Given the description of an element on the screen output the (x, y) to click on. 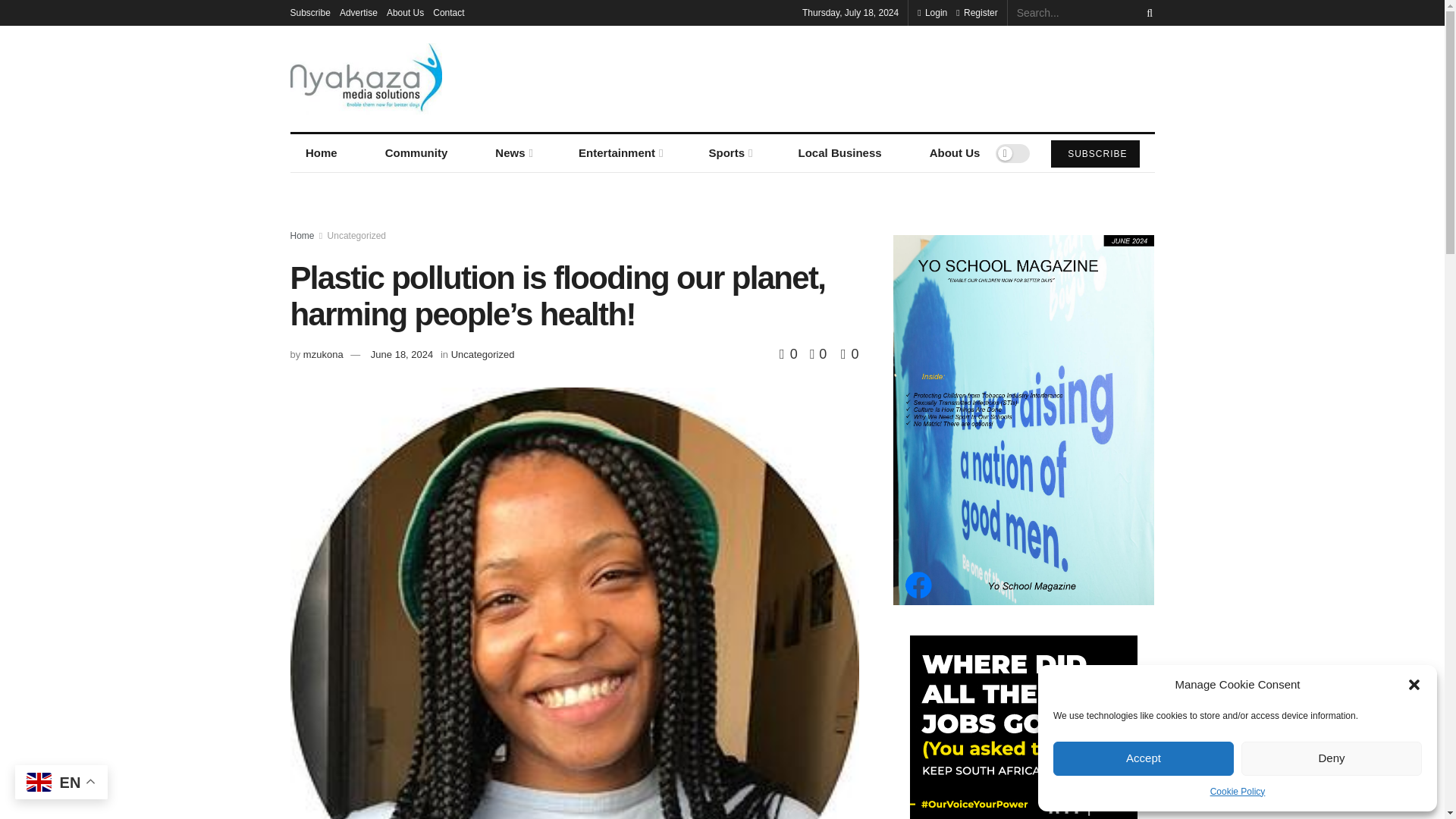
Deny (1331, 758)
Cookie Policy (1237, 791)
Community (416, 152)
Login (932, 12)
Home (320, 152)
About Us (405, 12)
Sports (729, 152)
Advertise (358, 12)
Accept (1142, 758)
News (513, 152)
About Us (954, 152)
Register (976, 12)
SUBSCRIBE (1095, 153)
Entertainment (620, 152)
Subscribe (309, 12)
